Given the description of an element on the screen output the (x, y) to click on. 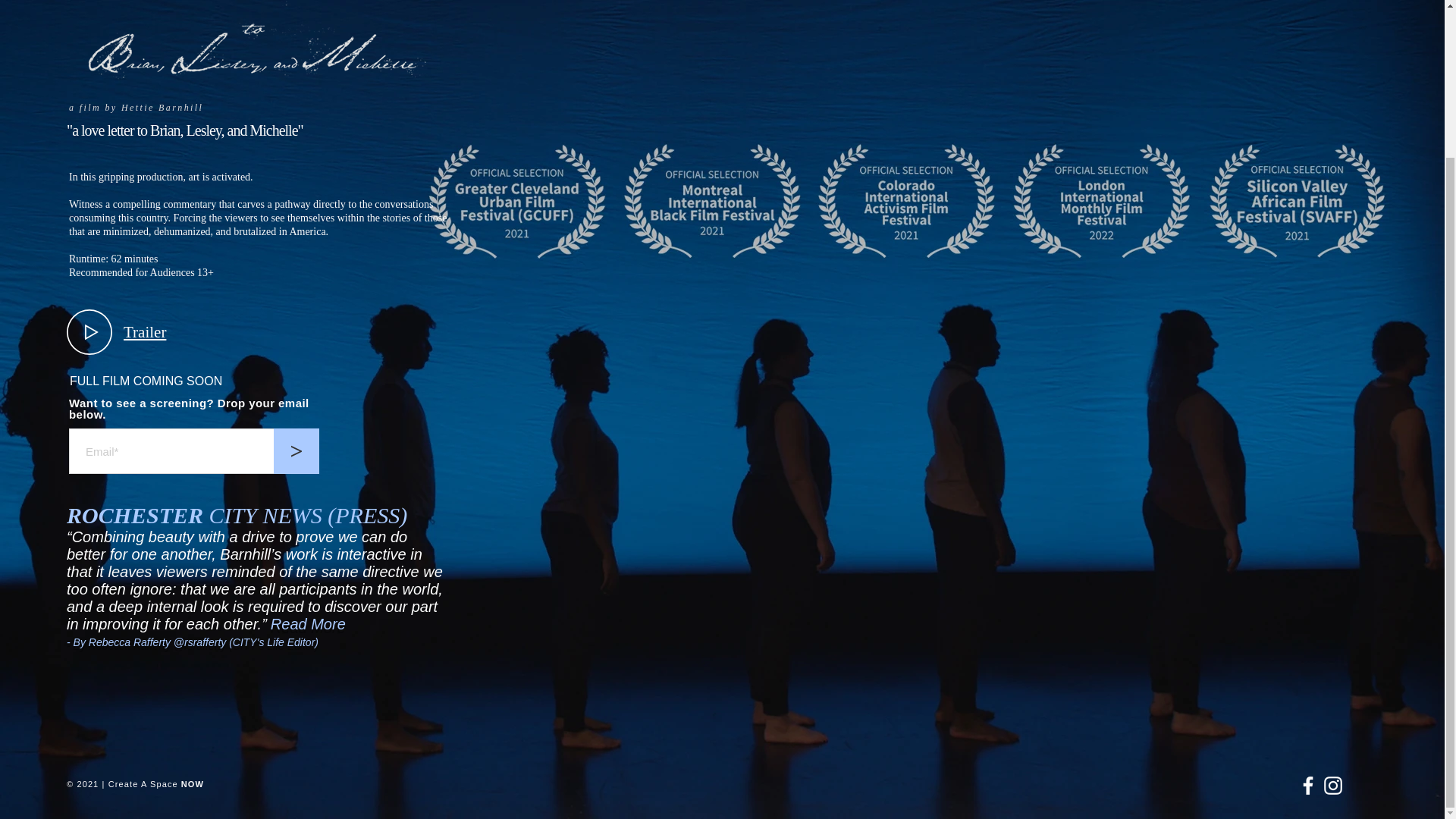
Trailer (144, 331)
Read More (308, 623)
